Given the description of an element on the screen output the (x, y) to click on. 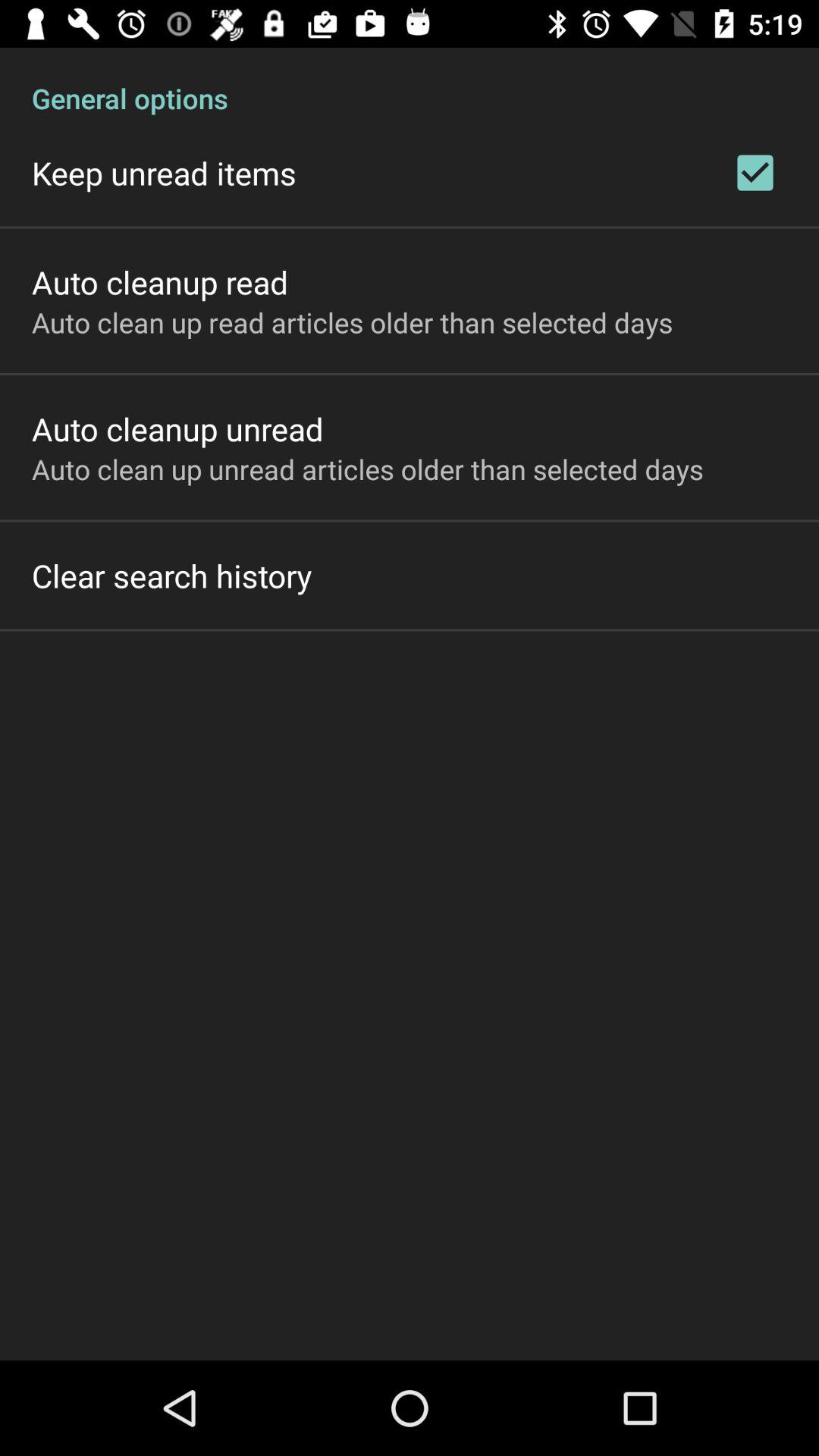
open icon above auto cleanup read icon (163, 172)
